Given the description of an element on the screen output the (x, y) to click on. 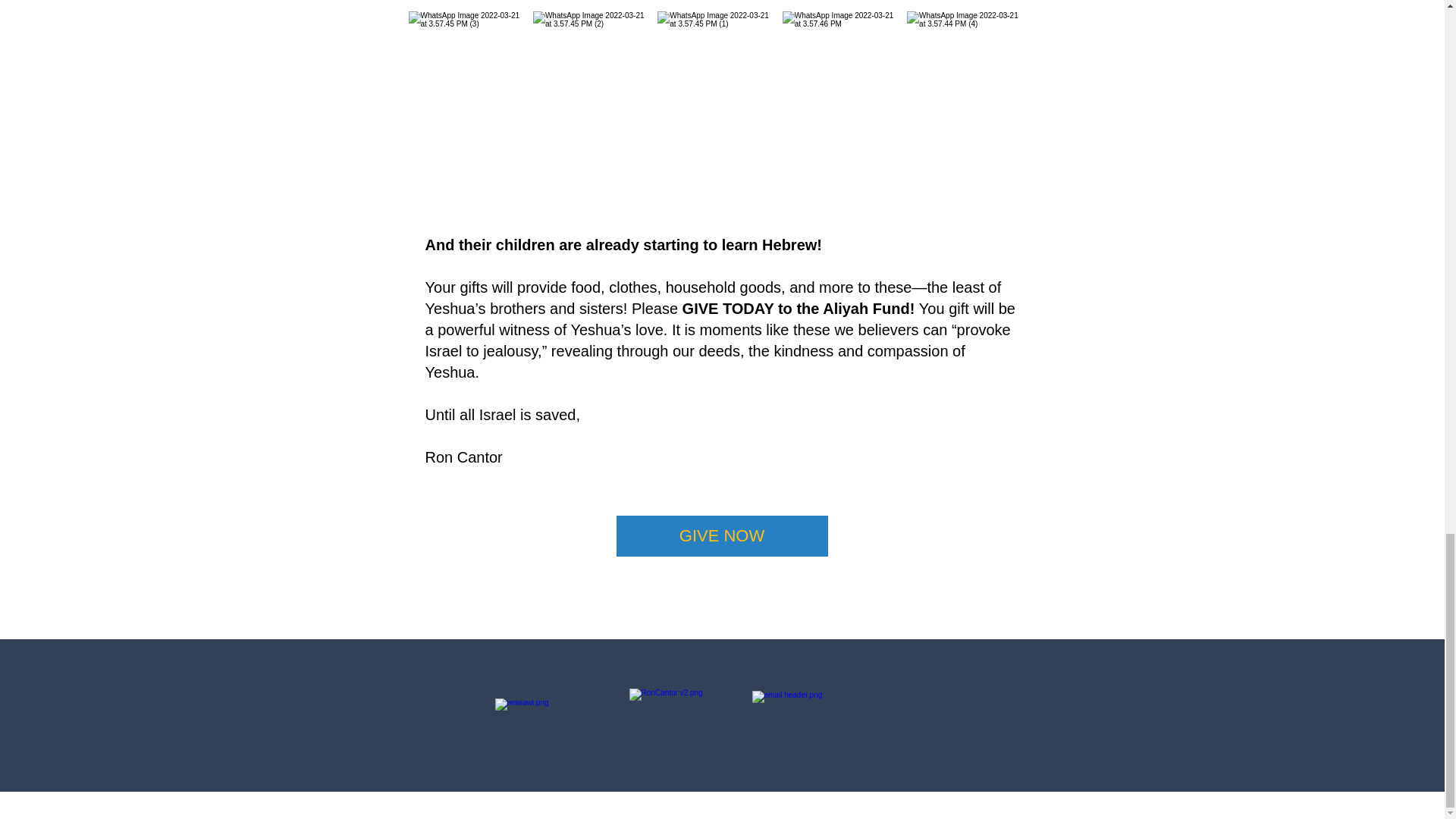
GIVE NOW (721, 535)
